Given the description of an element on the screen output the (x, y) to click on. 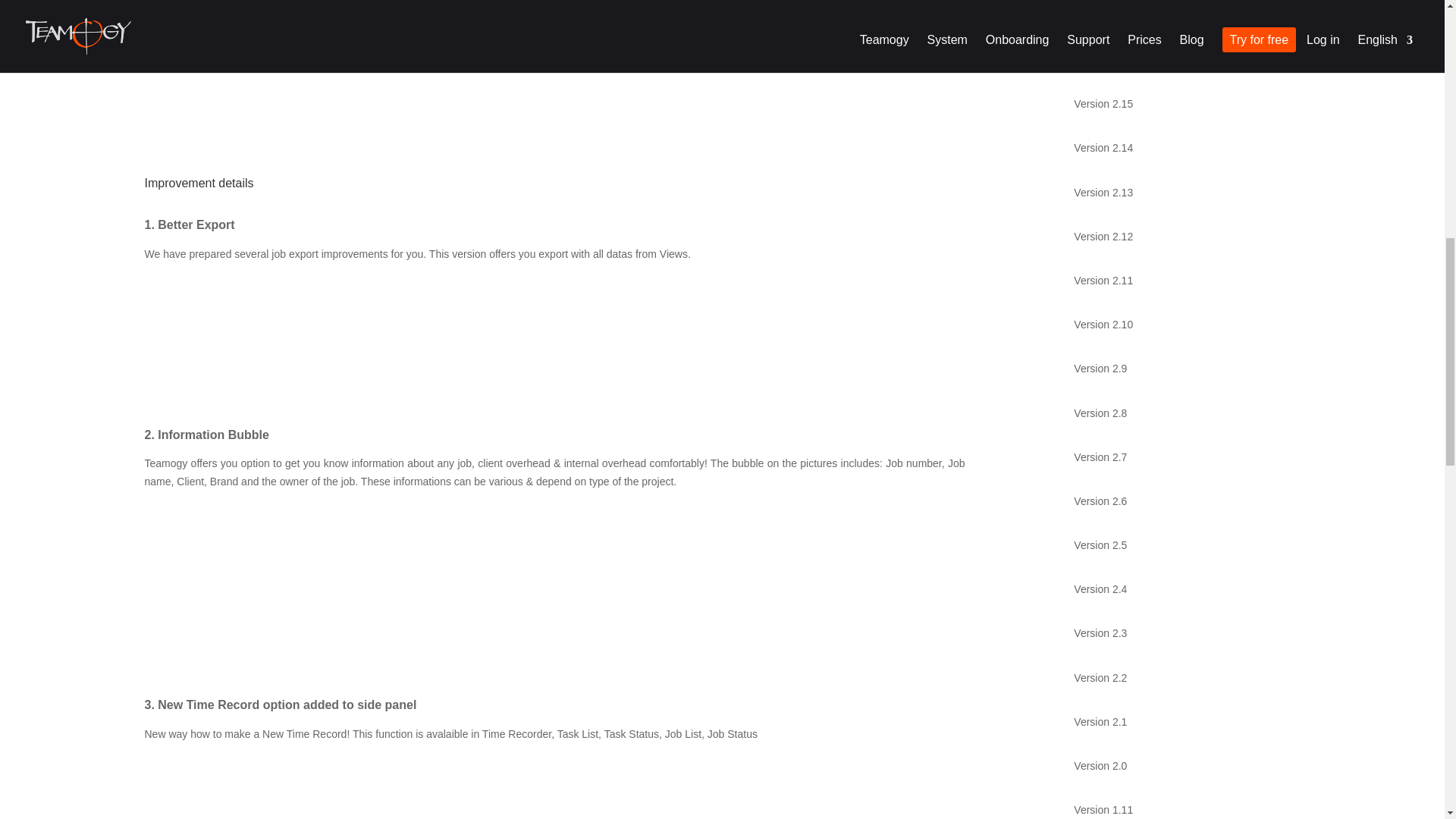
Version 2.16 (1179, 59)
Version 2.14 (1179, 147)
Version 2.12 (1179, 236)
Version 2.13 (1179, 192)
Version 2.11 (1179, 280)
Version 2.17 (1179, 18)
Version 2.15 (1179, 103)
